Given the description of an element on the screen output the (x, y) to click on. 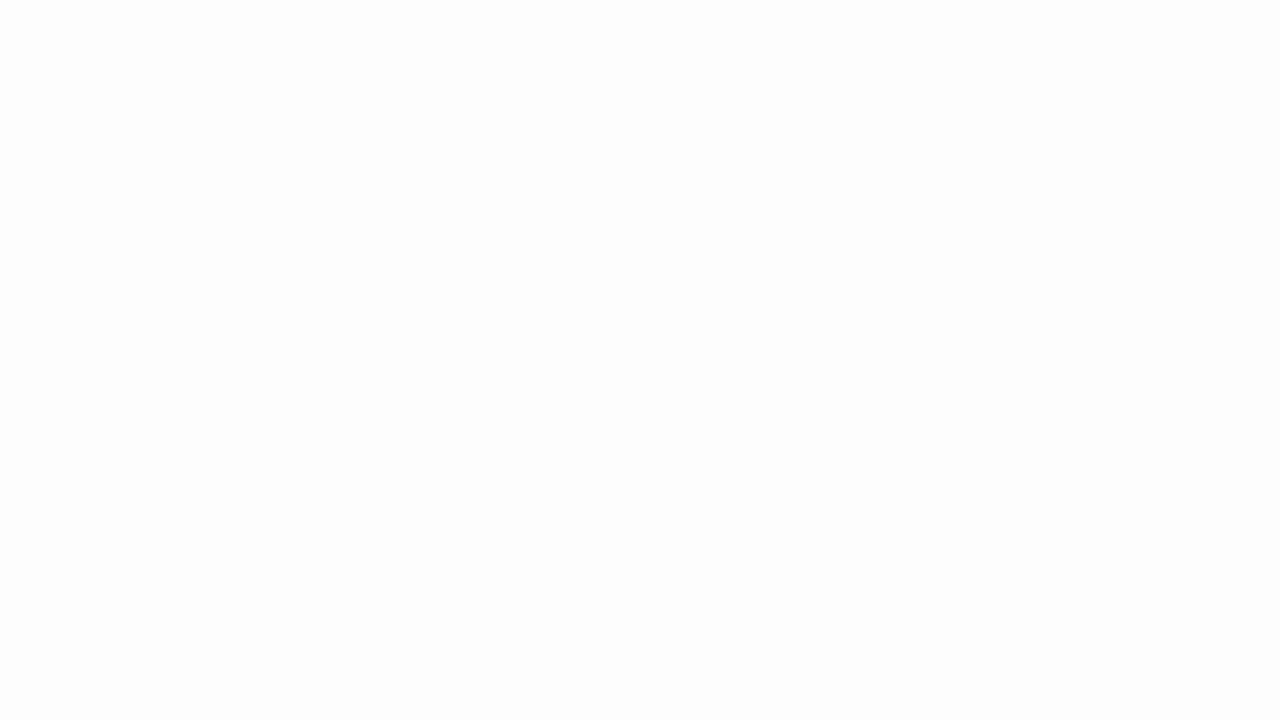
Number Format (800, 87)
Font (256, 87)
Cut (73, 78)
Increase Indent (565, 119)
Office Clipboard... (156, 151)
Orientation (547, 87)
Accounting Number Format (749, 119)
Paste (28, 102)
Fill Color RGB(255, 255, 0) (324, 119)
Italic (207, 119)
